Given the description of an element on the screen output the (x, y) to click on. 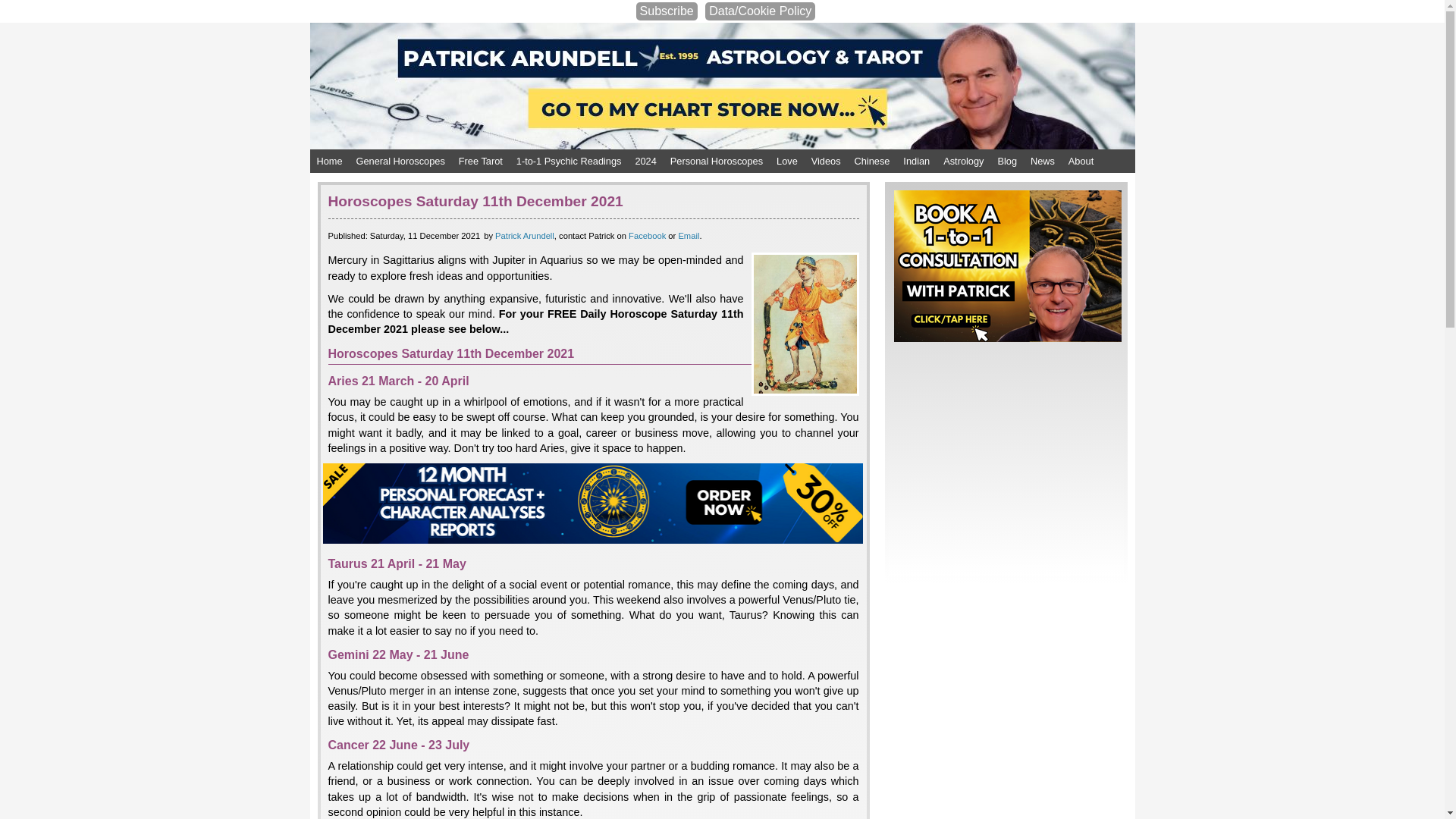
Learn more about Patrick by reading his bio (524, 235)
General Horoscopes (400, 160)
Click here to Sign Up for my Email Horoscope (666, 11)
1-to-1 Psychic Readings (568, 160)
Home (328, 160)
Contact Patrick (688, 235)
Free Tarot (480, 160)
Facebook (646, 235)
Subscribe (666, 11)
